Given the description of an element on the screen output the (x, y) to click on. 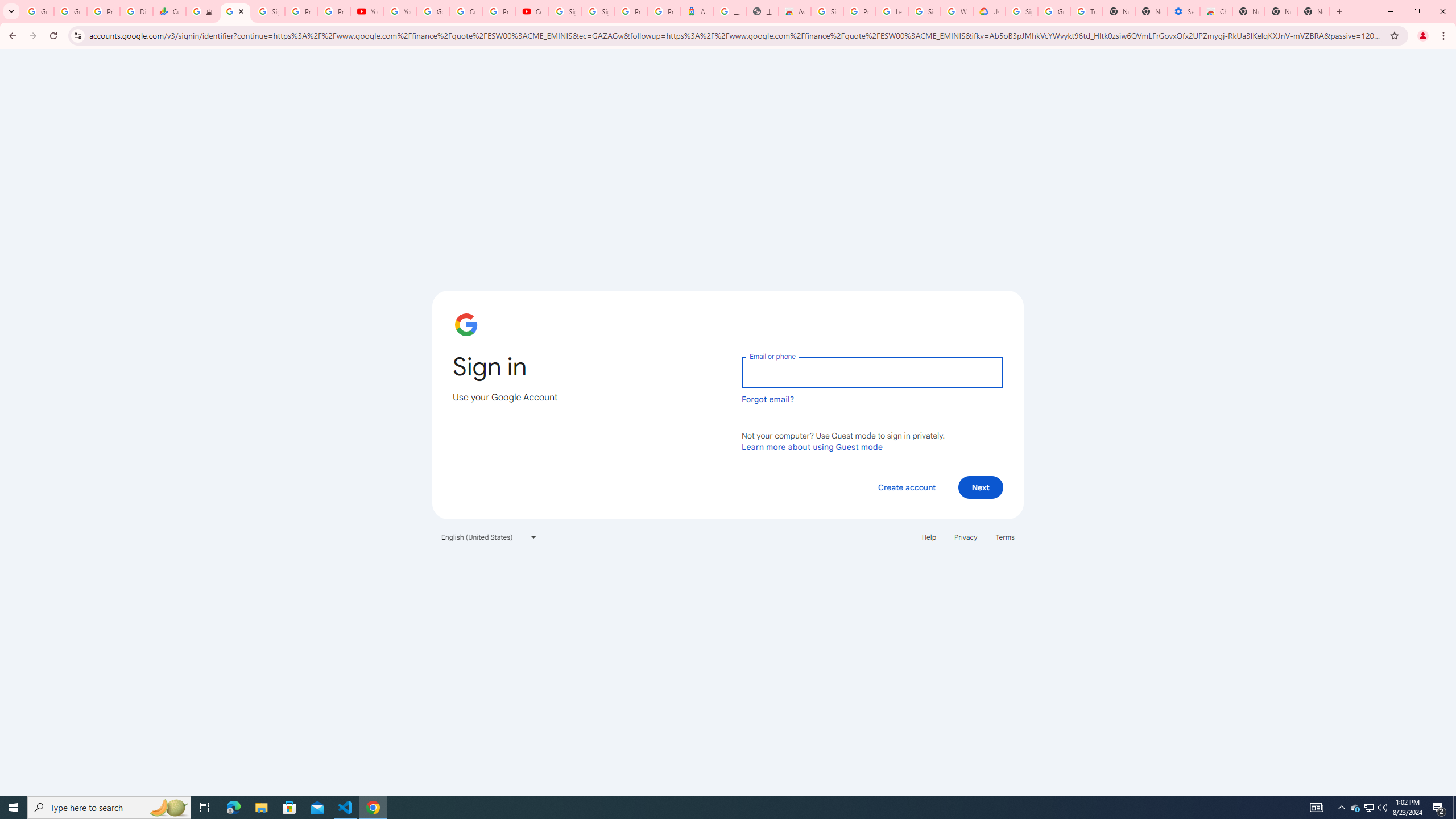
Create your Google Account (465, 11)
Atour Hotel - Google hotels (697, 11)
Sign in - Google Accounts (235, 11)
Content Creator Programs & Opportunities - YouTube Creators (532, 11)
Sign in - Google Accounts (268, 11)
